Given the description of an element on the screen output the (x, y) to click on. 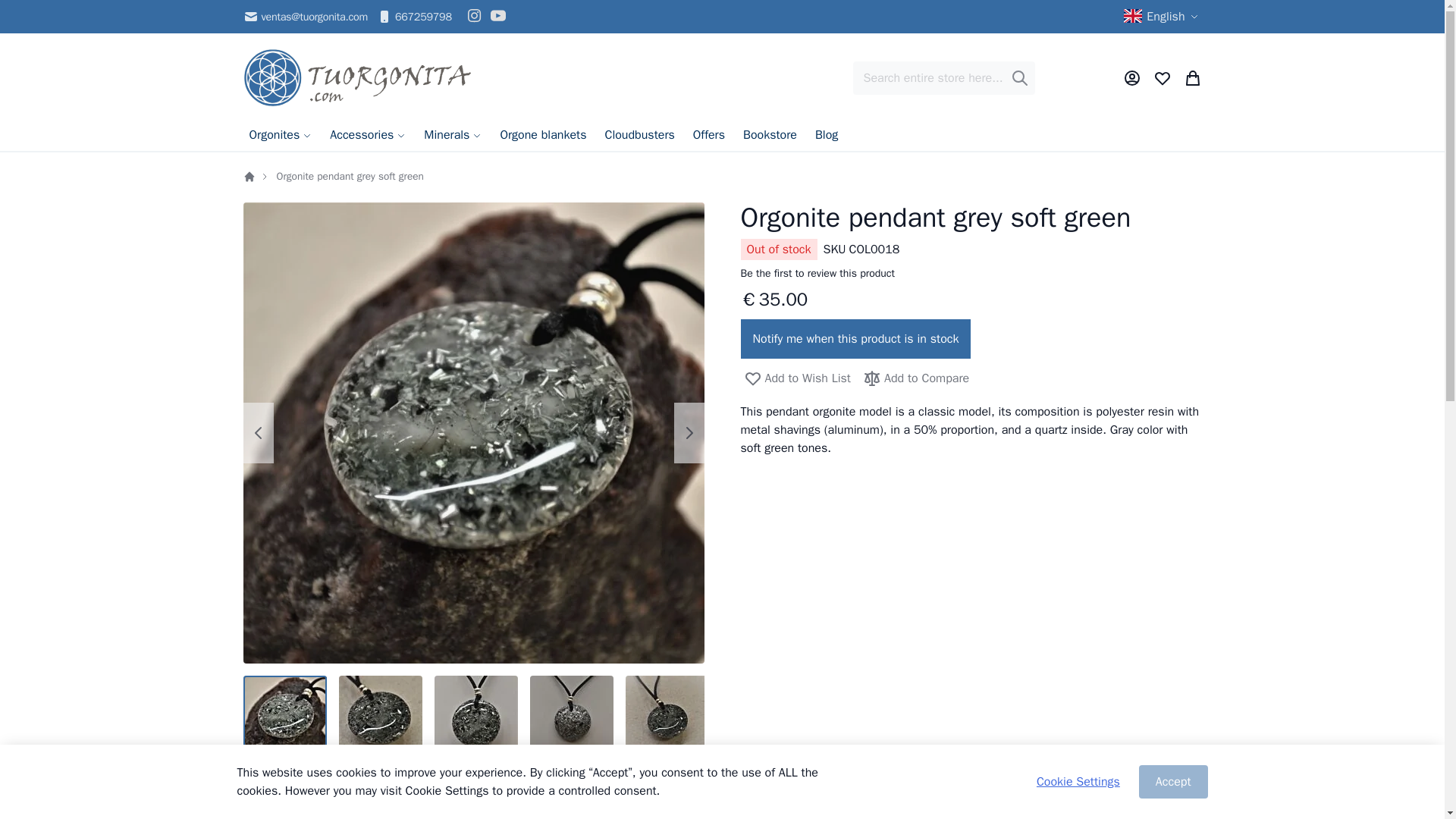
Accessories (367, 134)
View Image (379, 717)
Blog (826, 134)
Bookstore (769, 134)
Go to Home Page (248, 176)
View Image (284, 717)
Notify me when this product is in stock (855, 338)
Cloudbusters (638, 134)
667259798 (414, 16)
Wishlist (1161, 77)
Minerals (452, 134)
Offers (708, 134)
My Account (1131, 77)
Orgone blankets (542, 134)
Instagram (475, 16)
